Given the description of an element on the screen output the (x, y) to click on. 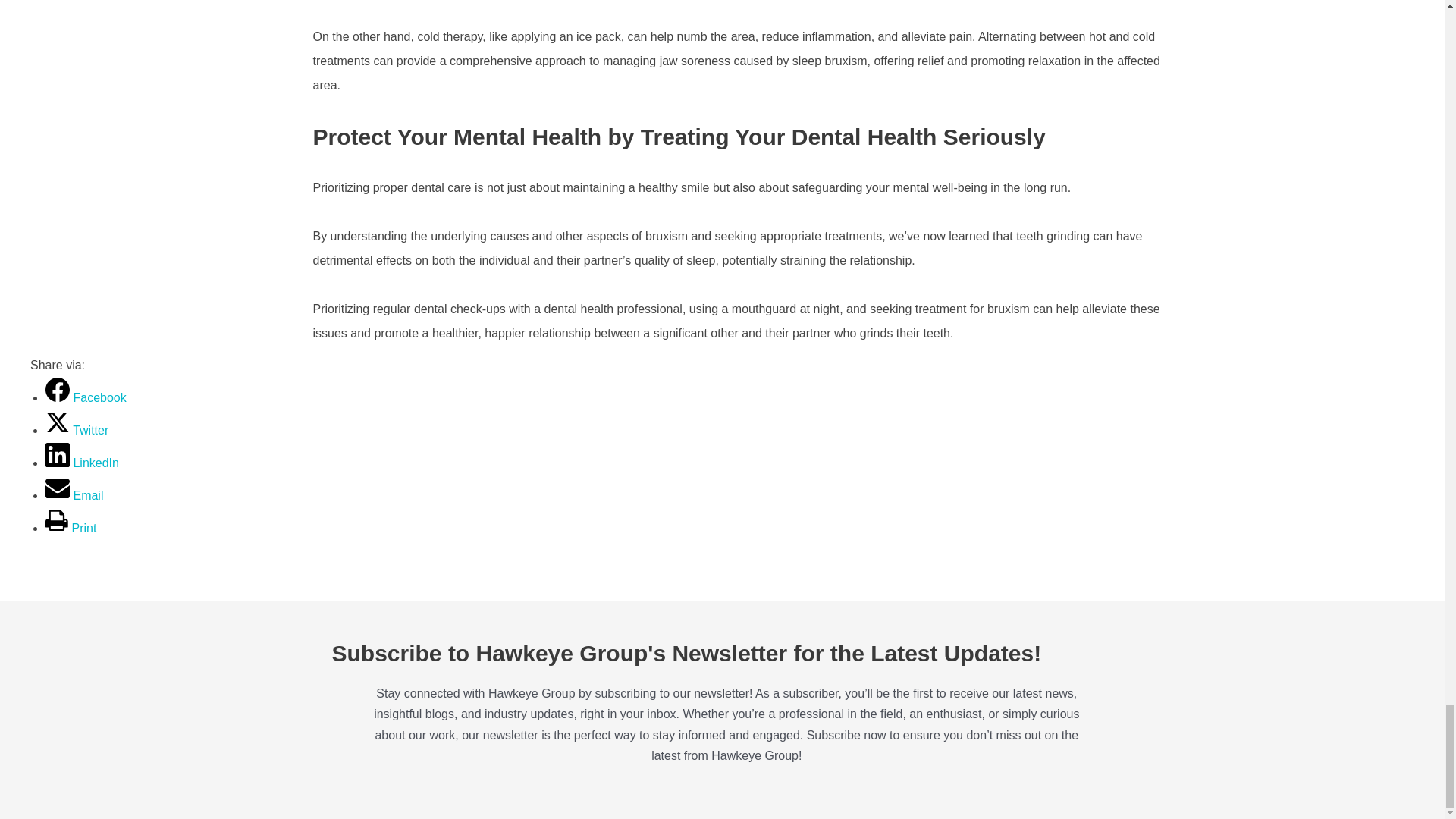
Facebook (85, 397)
Twitter (76, 430)
Email (74, 495)
LinkedIn (82, 462)
Print (70, 527)
